Given the description of an element on the screen output the (x, y) to click on. 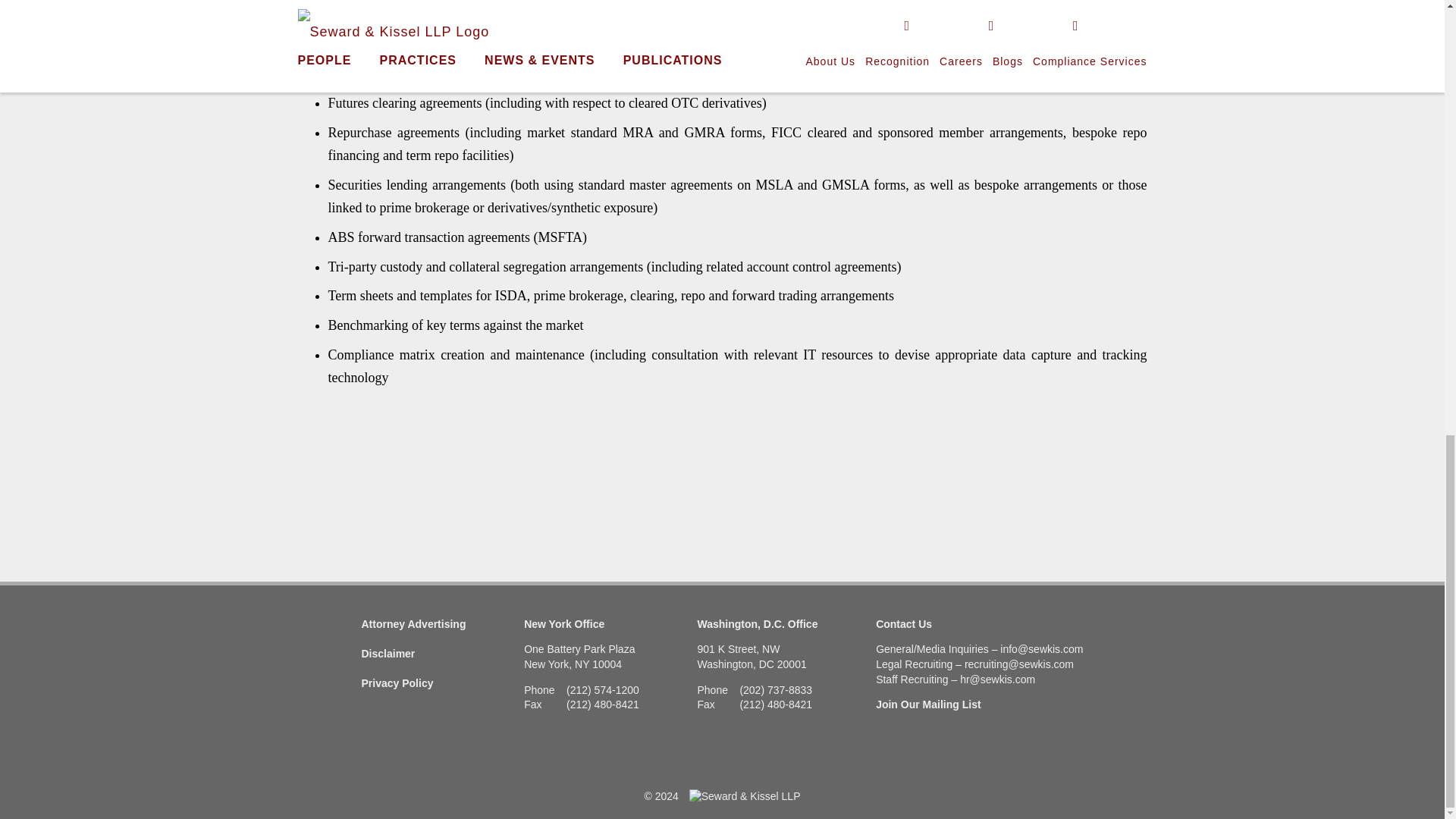
Washington, D.C. Office (757, 623)
Privacy Policy (396, 683)
New York Office (564, 623)
Disclaimer (387, 653)
Join Our Mailing List (927, 704)
Attorney Advertising (413, 623)
